Given the description of an element on the screen output the (x, y) to click on. 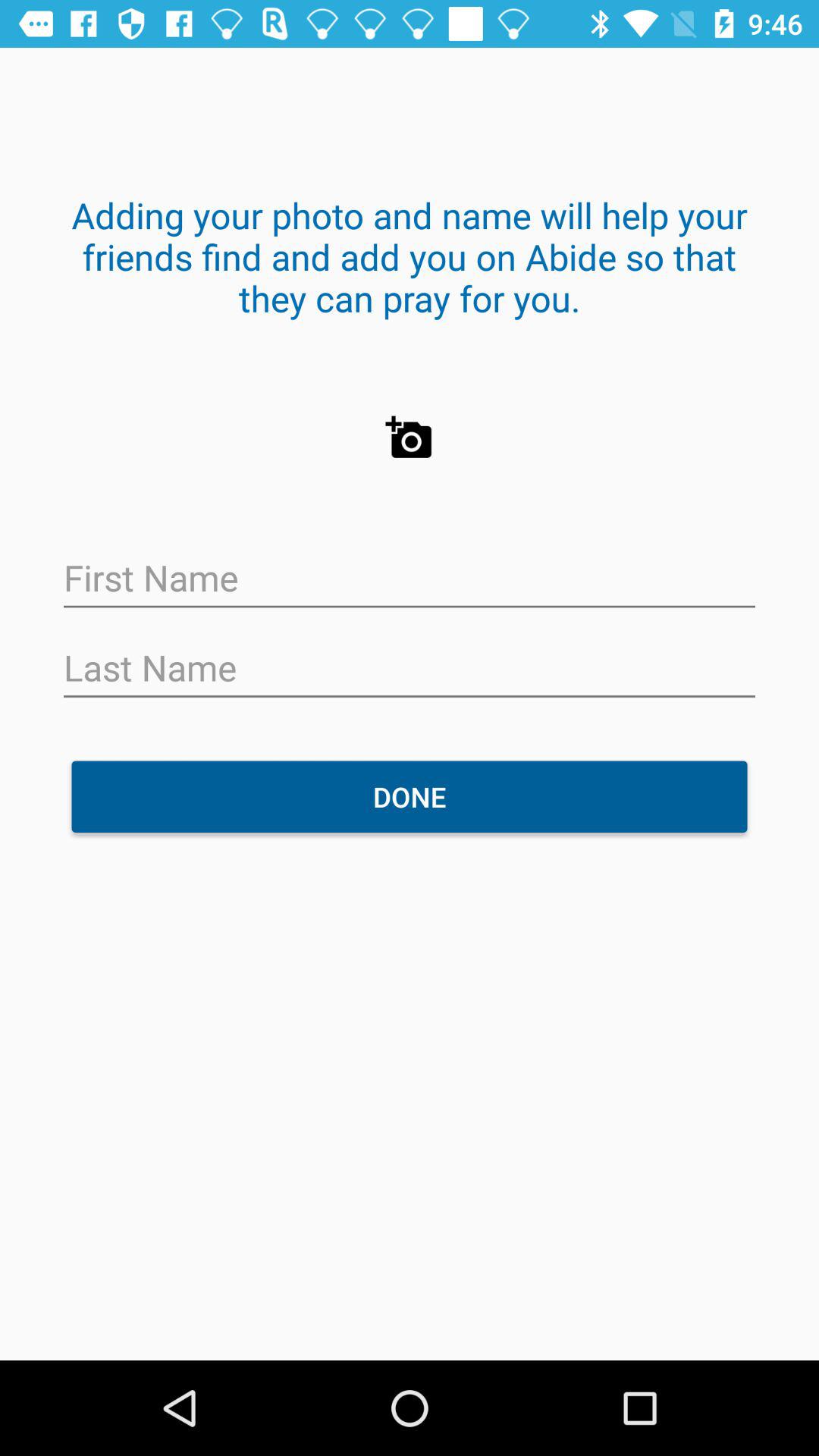
jump until the done icon (409, 796)
